Given the description of an element on the screen output the (x, y) to click on. 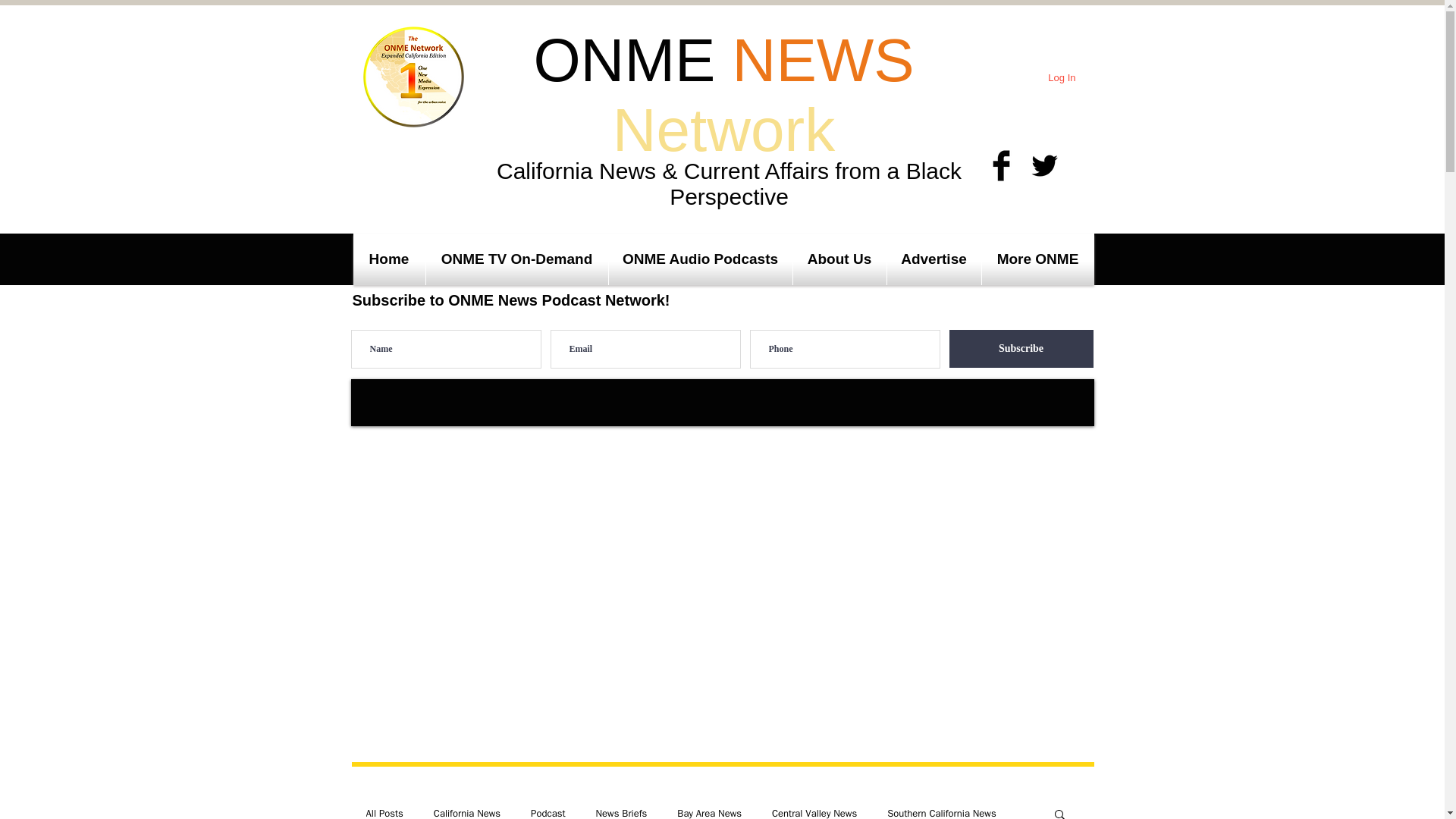
About Us (839, 259)
Podcast (547, 812)
Home (389, 259)
ONME NEWS Network (723, 94)
Bay Area News (709, 812)
ONME TV On-Demand (517, 259)
All Posts (384, 812)
Central Valley News (814, 812)
Log In (1061, 77)
Subscribe (1021, 348)
Southern California News (940, 812)
California News (466, 812)
News Briefs (621, 812)
ONME Audio Podcasts (700, 259)
